Given the description of an element on the screen output the (x, y) to click on. 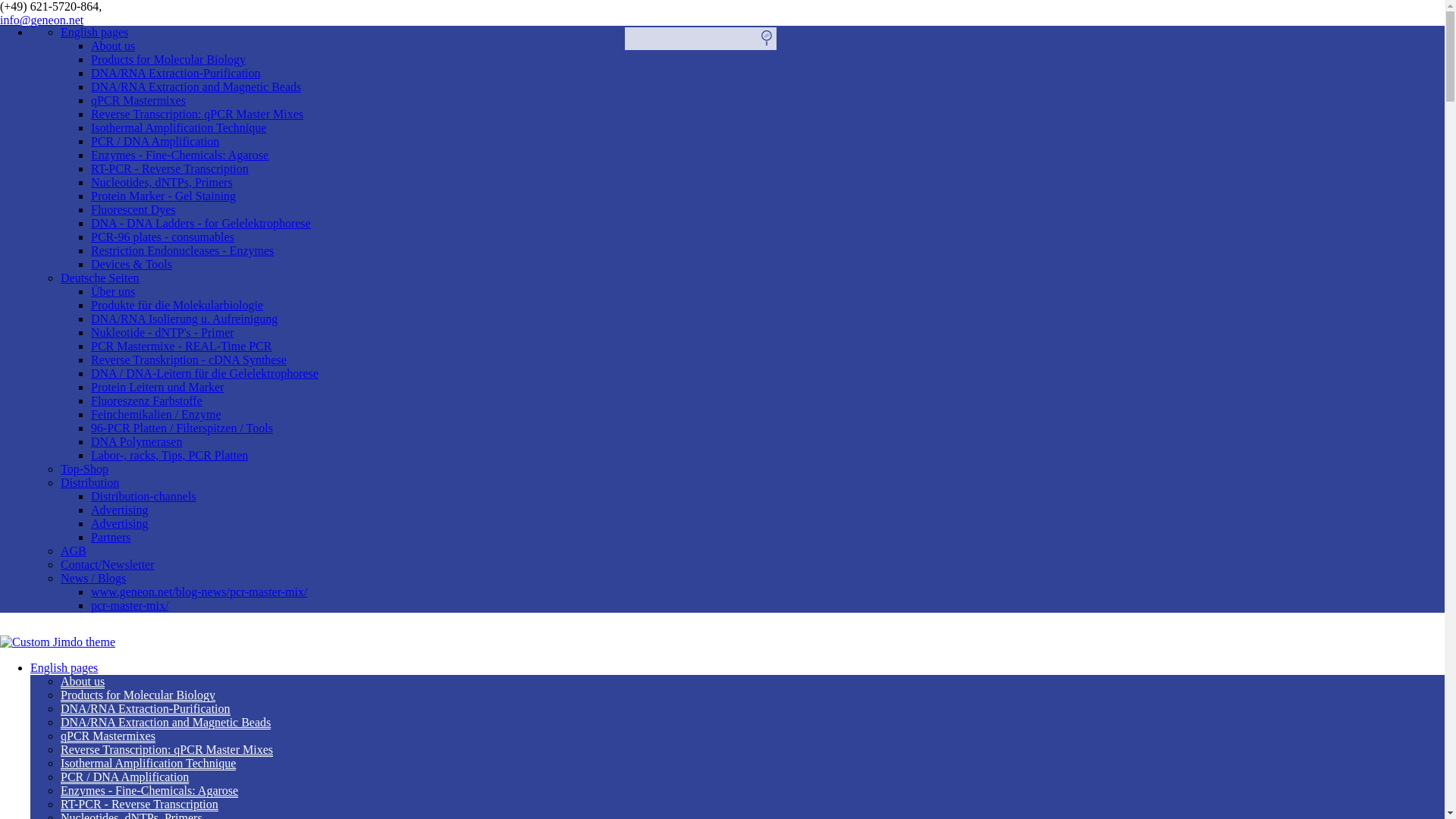
Nucleotides, dNTPs, Primers (161, 182)
English pages (94, 31)
RT-PCR - Reverse Transcription (169, 168)
Reverse Transkription - cDNA Synthese (188, 359)
Labor-, racks, Tips, PCR Platten (168, 454)
AGB (73, 550)
PCR Mastermixe - REAL-Time PCR (181, 345)
Partners (110, 536)
Fluorescent Dyes (133, 209)
Products for Molecular Biology (168, 59)
Protein Leitern und Marker (157, 386)
qPCR Mastermixes (138, 100)
Restriction Endonucleases - Enzymes (181, 250)
DNA Polymerasen (136, 440)
Top-Shop (84, 468)
